Given the description of an element on the screen output the (x, y) to click on. 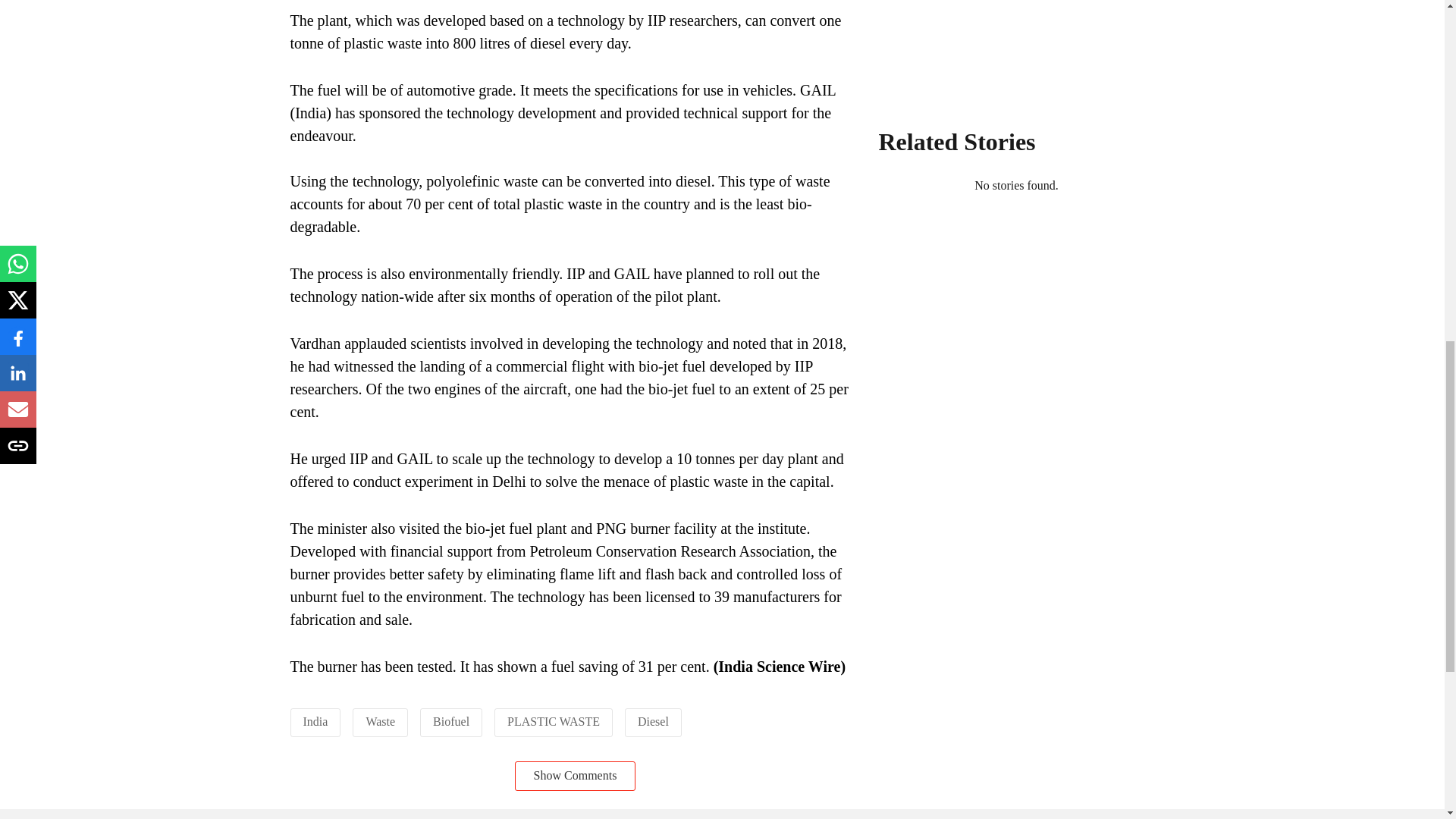
Biofuel (450, 721)
Waste (379, 721)
India (315, 721)
